Given the description of an element on the screen output the (x, y) to click on. 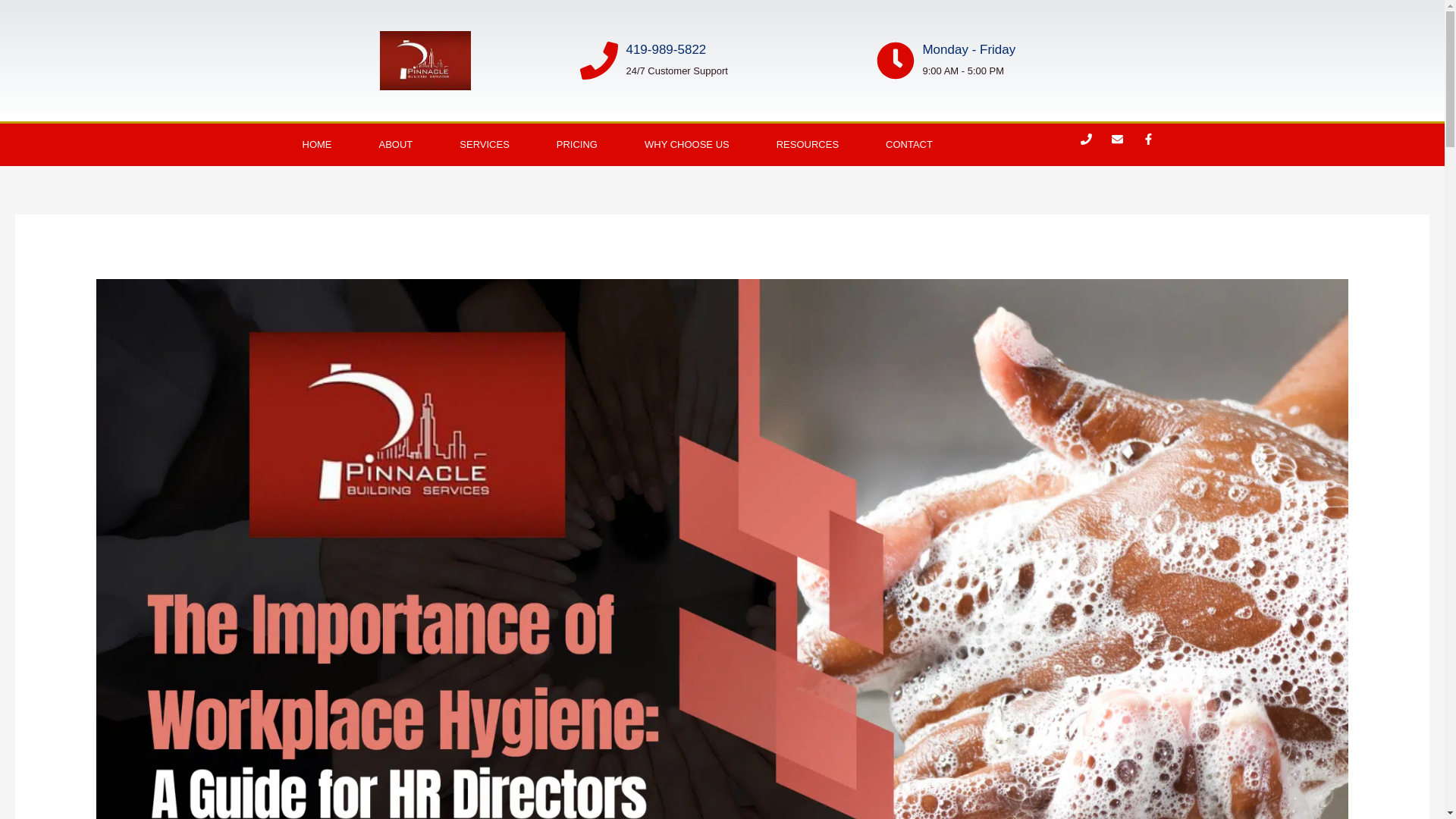
WHY CHOOSE US (686, 144)
RESOURCES (806, 144)
HOME (317, 144)
PRICING (576, 144)
Envelope (1123, 144)
CONTACT (908, 144)
Facebook-f (1154, 144)
ABOUT (395, 144)
Phone (1091, 144)
419-989-5822 (666, 49)
SERVICES (483, 144)
